Given the description of an element on the screen output the (x, y) to click on. 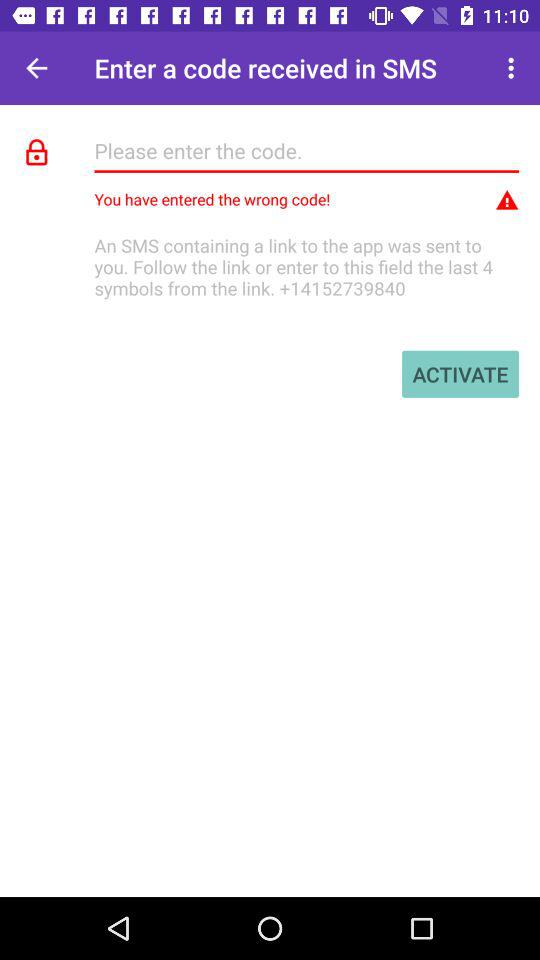
enter code field (306, 150)
